Given the description of an element on the screen output the (x, y) to click on. 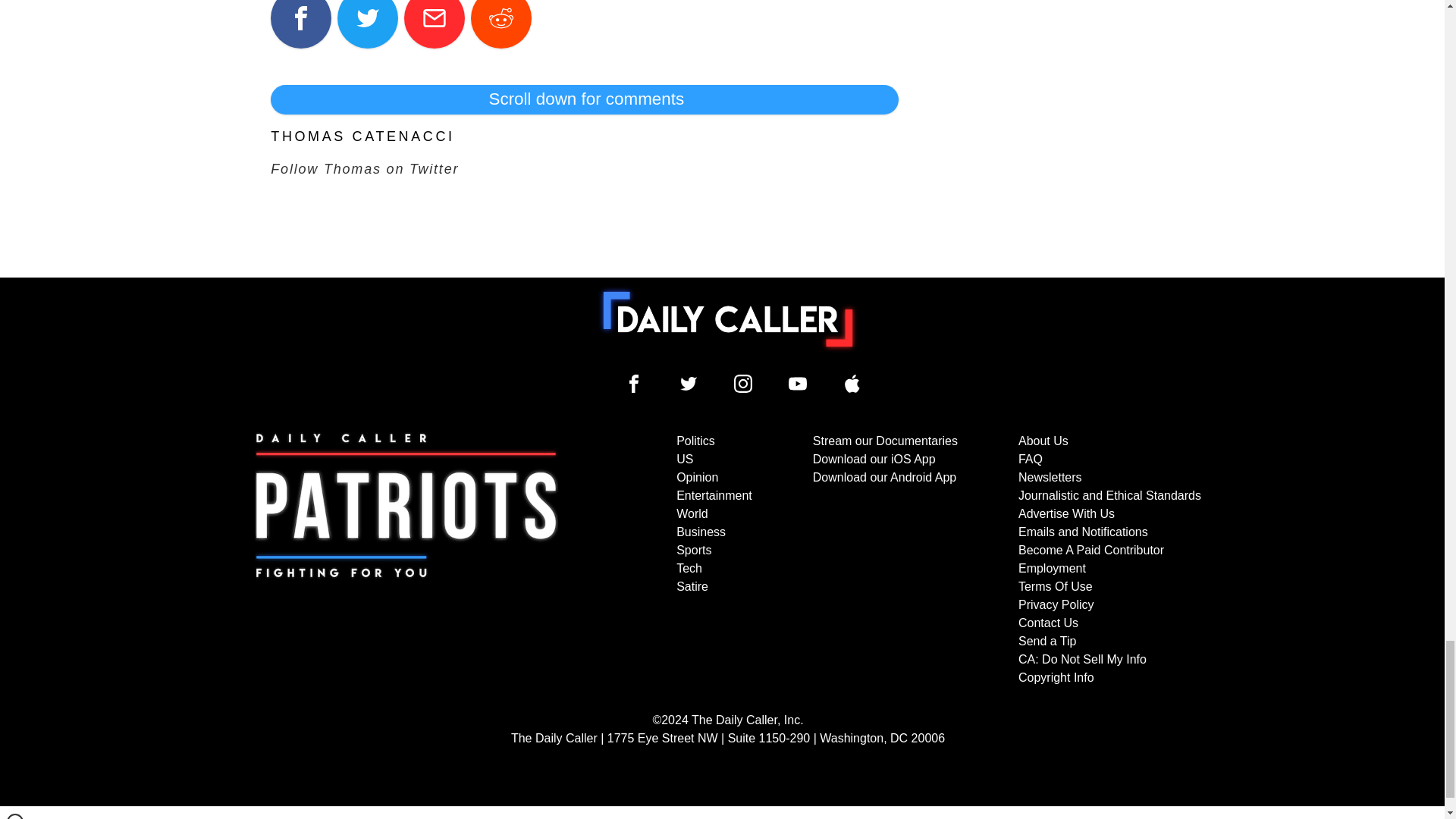
Daily Caller Facebook (633, 383)
Daily Caller Instagram (742, 383)
To home page (727, 318)
Daily Caller Twitter (688, 383)
Daily Caller YouTube (797, 383)
Subscribe to The Daily Caller (405, 559)
Scroll down for comments (584, 99)
Daily Caller YouTube (852, 383)
